Given the description of an element on the screen output the (x, y) to click on. 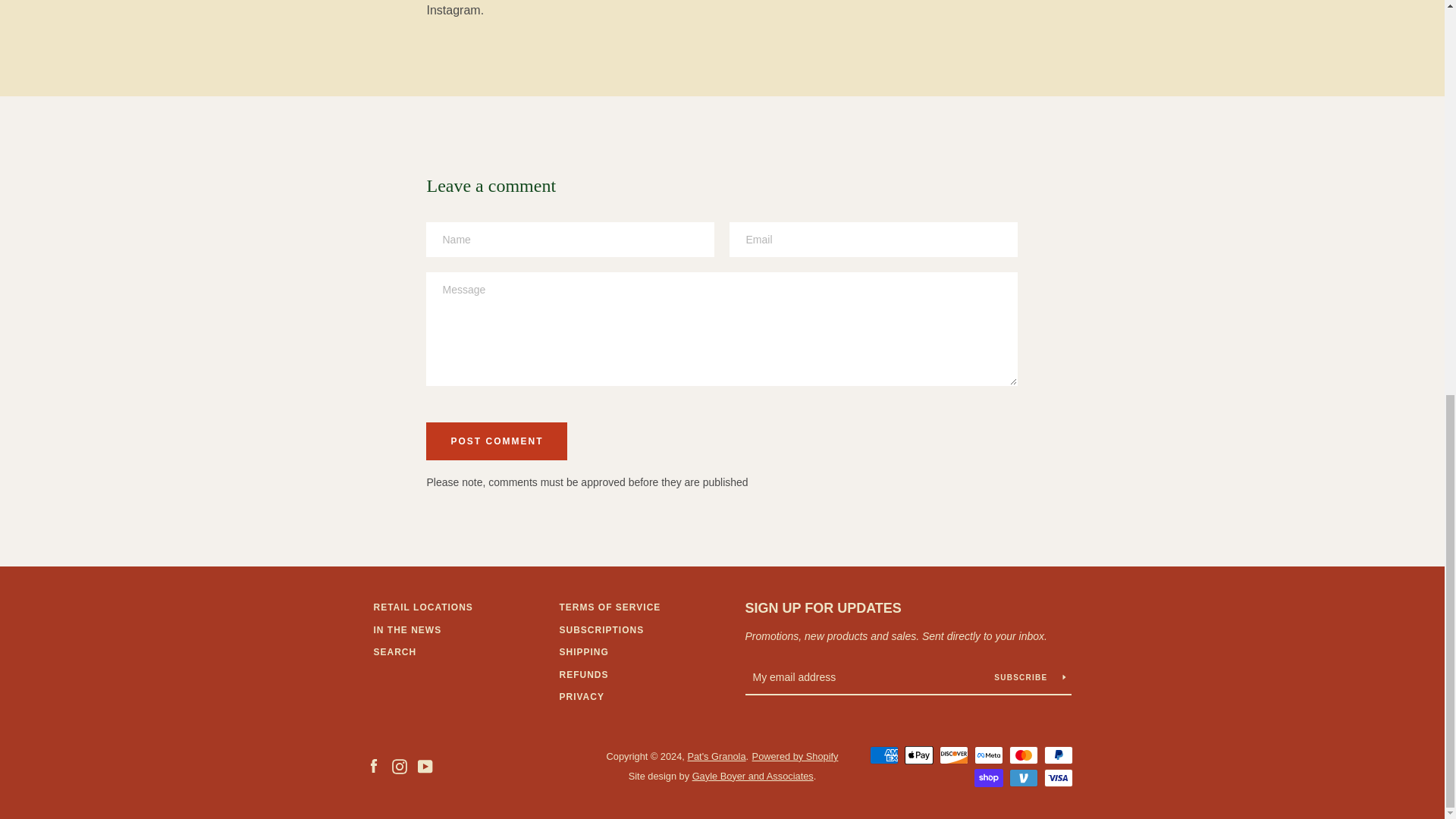
Facebook (372, 765)
Pat's Granola on YouTube (424, 765)
American Express (883, 755)
Mastercard (1022, 755)
IN THE NEWS (406, 629)
Pat's Granola on Instagram (399, 765)
Meta Pay (988, 755)
Gayle Boyer and Associates (753, 776)
Venmo (1022, 778)
TERMS OF SERVICE (610, 606)
